Given the description of an element on the screen output the (x, y) to click on. 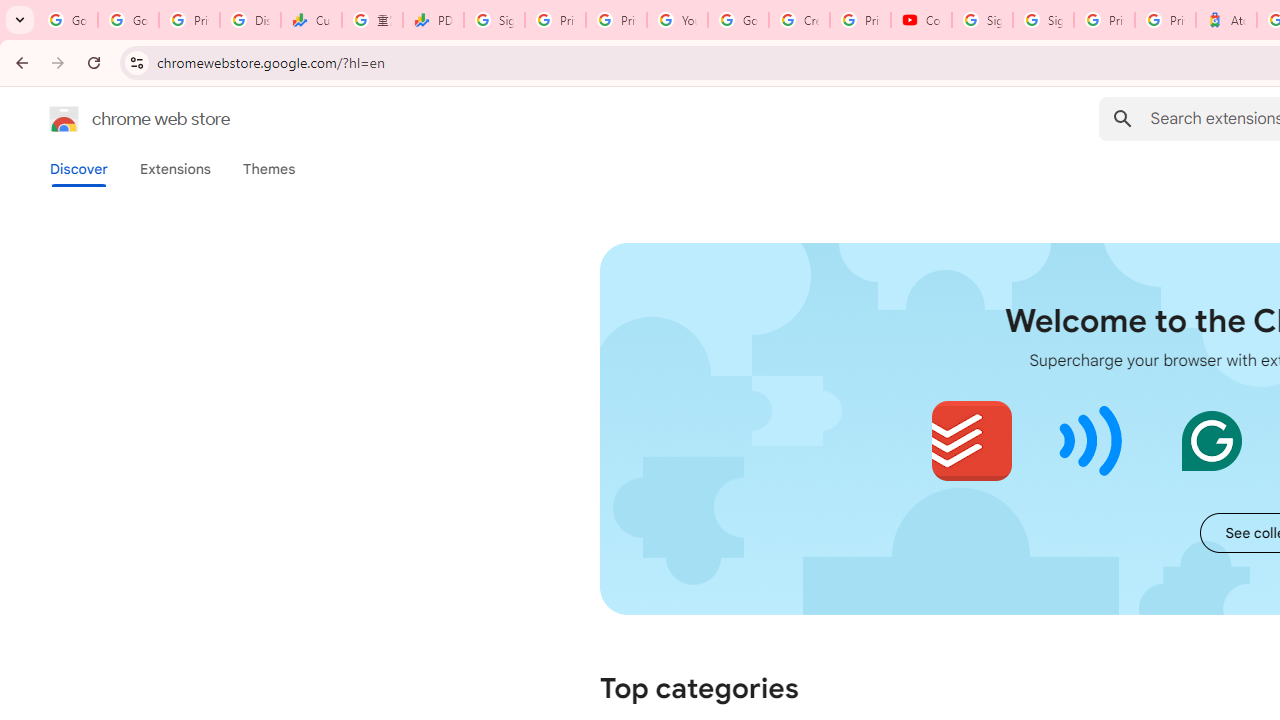
Atour Hotel - Google hotels (1225, 20)
Sign in - Google Accounts (1042, 20)
Chrome Web Store logo chrome web store (118, 118)
Themes (269, 169)
Chrome Web Store logo (63, 118)
Sign in - Google Accounts (982, 20)
Currencies - Google Finance (310, 20)
Content Creator Programs & Opportunities - YouTube Creators (921, 20)
Google Account Help (738, 20)
